Given the description of an element on the screen output the (x, y) to click on. 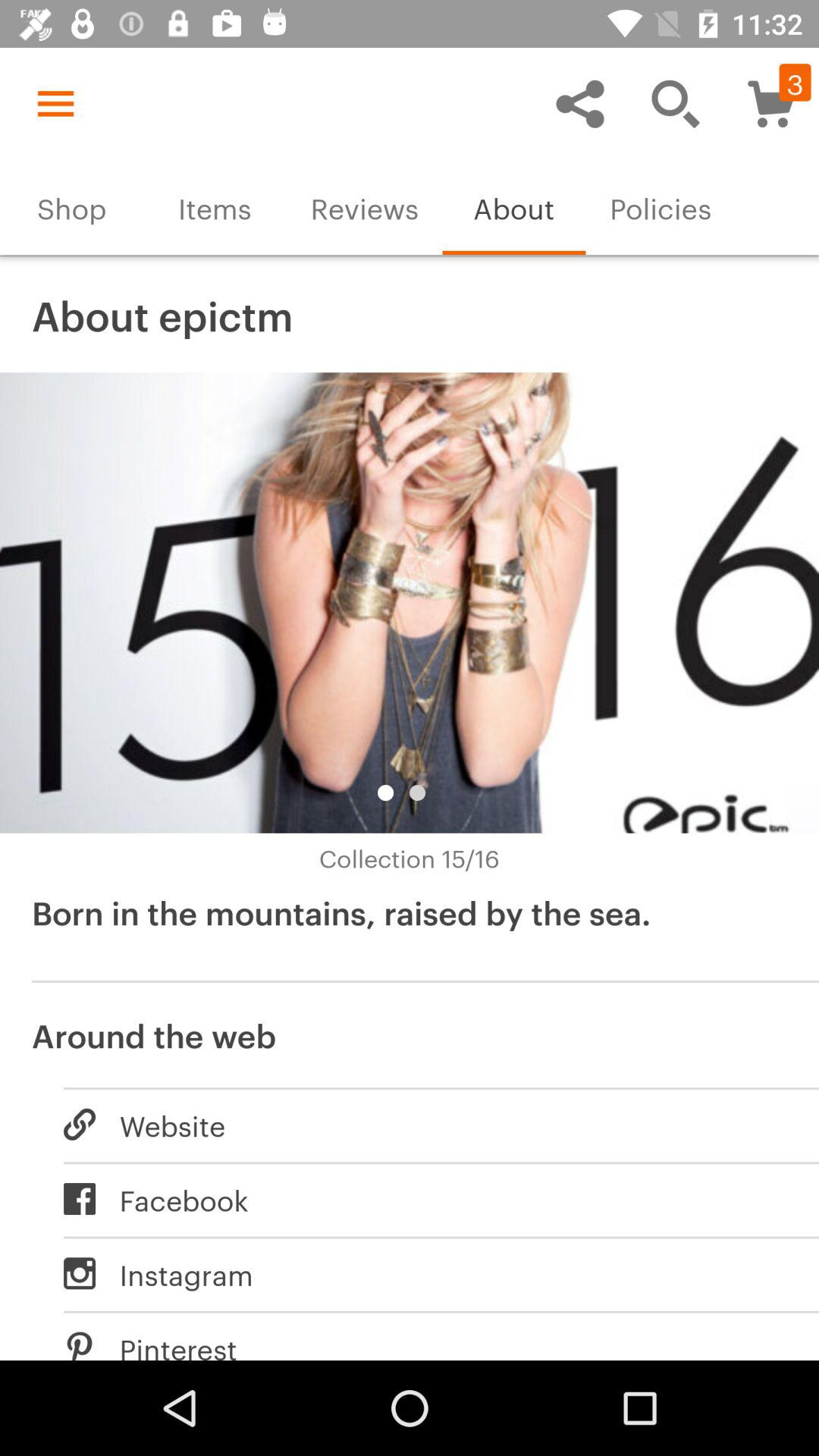
click the icon above the shop item (55, 103)
